Given the description of an element on the screen output the (x, y) to click on. 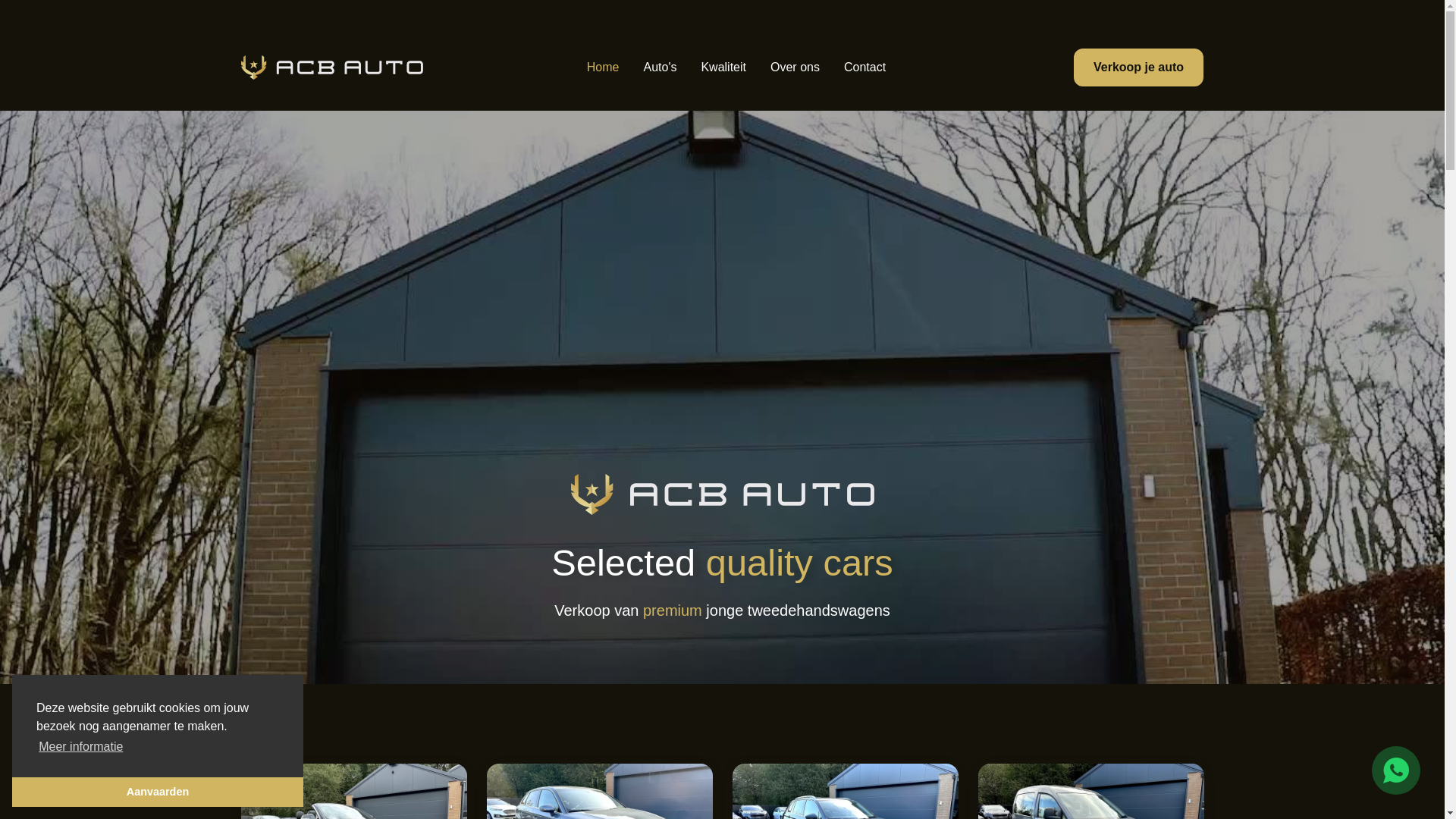
Home Element type: text (602, 66)
Meer informatie Element type: text (80, 746)
Kwaliteit Element type: text (723, 66)
Auto's Element type: text (659, 66)
Over ons Element type: text (794, 66)
Contact Element type: text (864, 66)
Verkoop je auto Element type: text (1138, 67)
Aanvaarden Element type: text (157, 791)
